Given the description of an element on the screen output the (x, y) to click on. 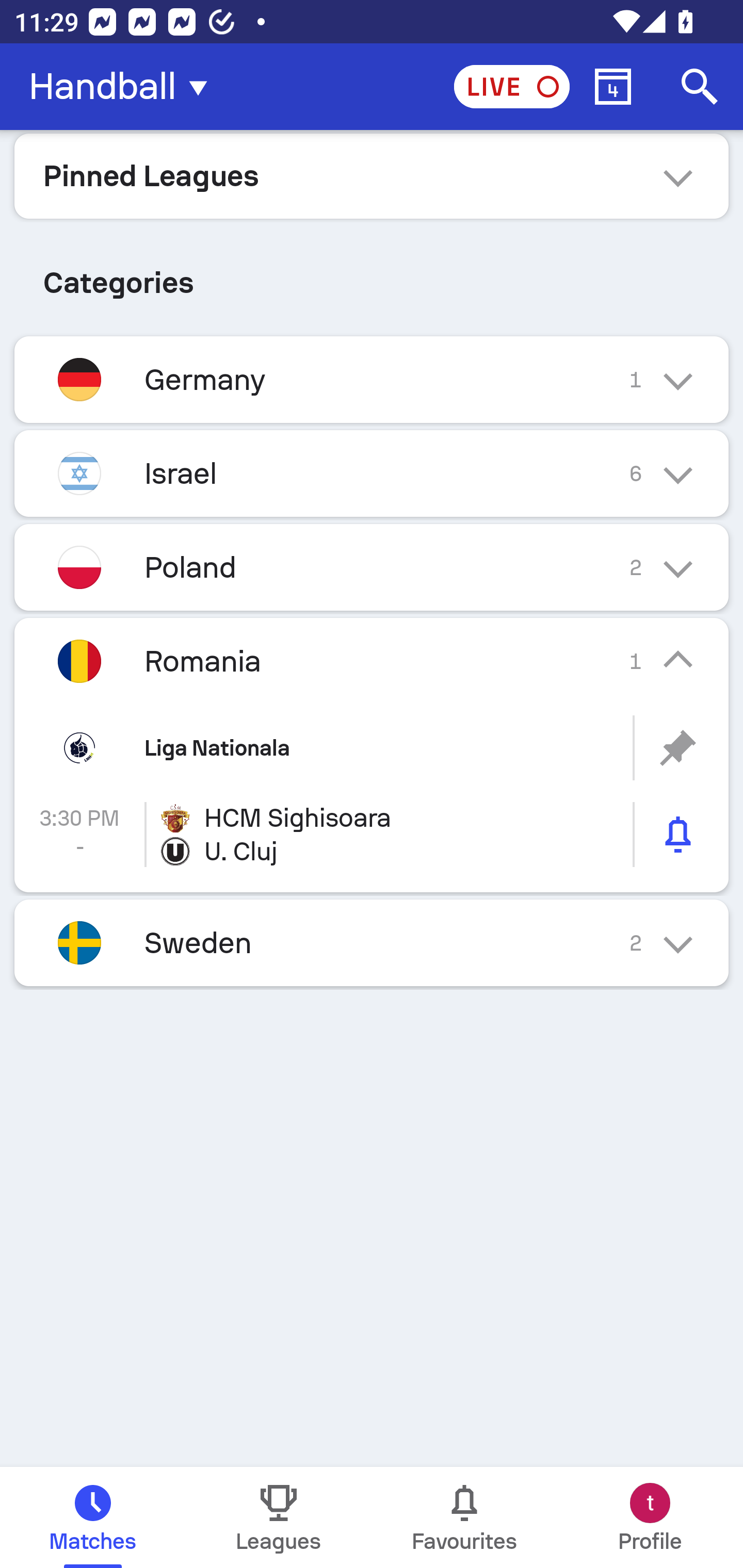
Handball (124, 86)
Calendar (612, 86)
Search (699, 86)
Pinned Leagues (371, 175)
Categories (371, 275)
Germany 1 (371, 379)
Israel 6 (371, 473)
Poland 2 (371, 566)
Romania 1 (371, 660)
Liga Nationala (371, 747)
3:30 PM - HCM Sighisoara U. Cluj (371, 834)
Sweden 2 (371, 943)
Leagues (278, 1517)
Favourites (464, 1517)
Profile (650, 1517)
